Given the description of an element on the screen output the (x, y) to click on. 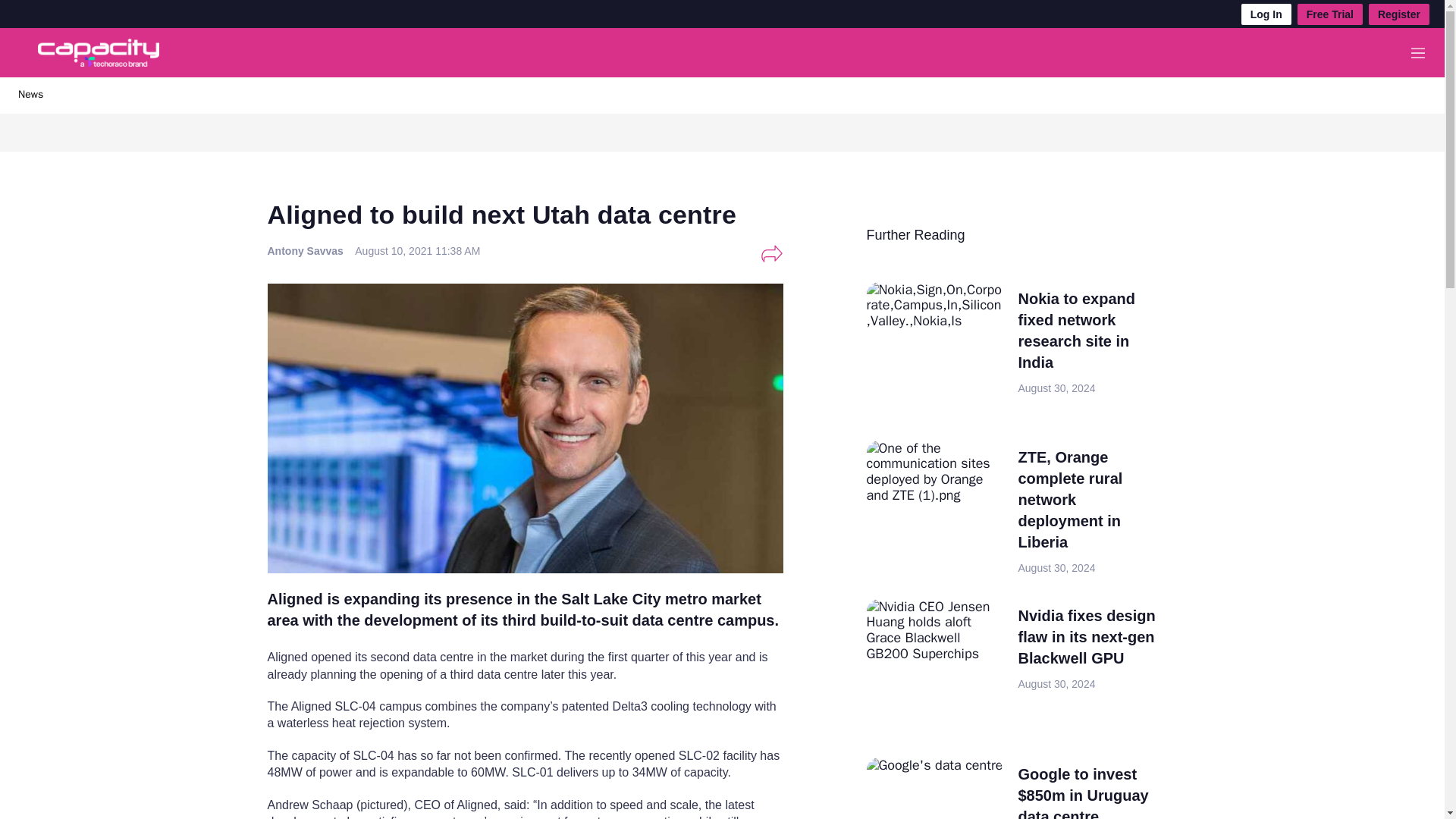
Share (771, 253)
Free Trial (1329, 13)
Log In (1266, 13)
Register (1398, 13)
